Given the description of an element on the screen output the (x, y) to click on. 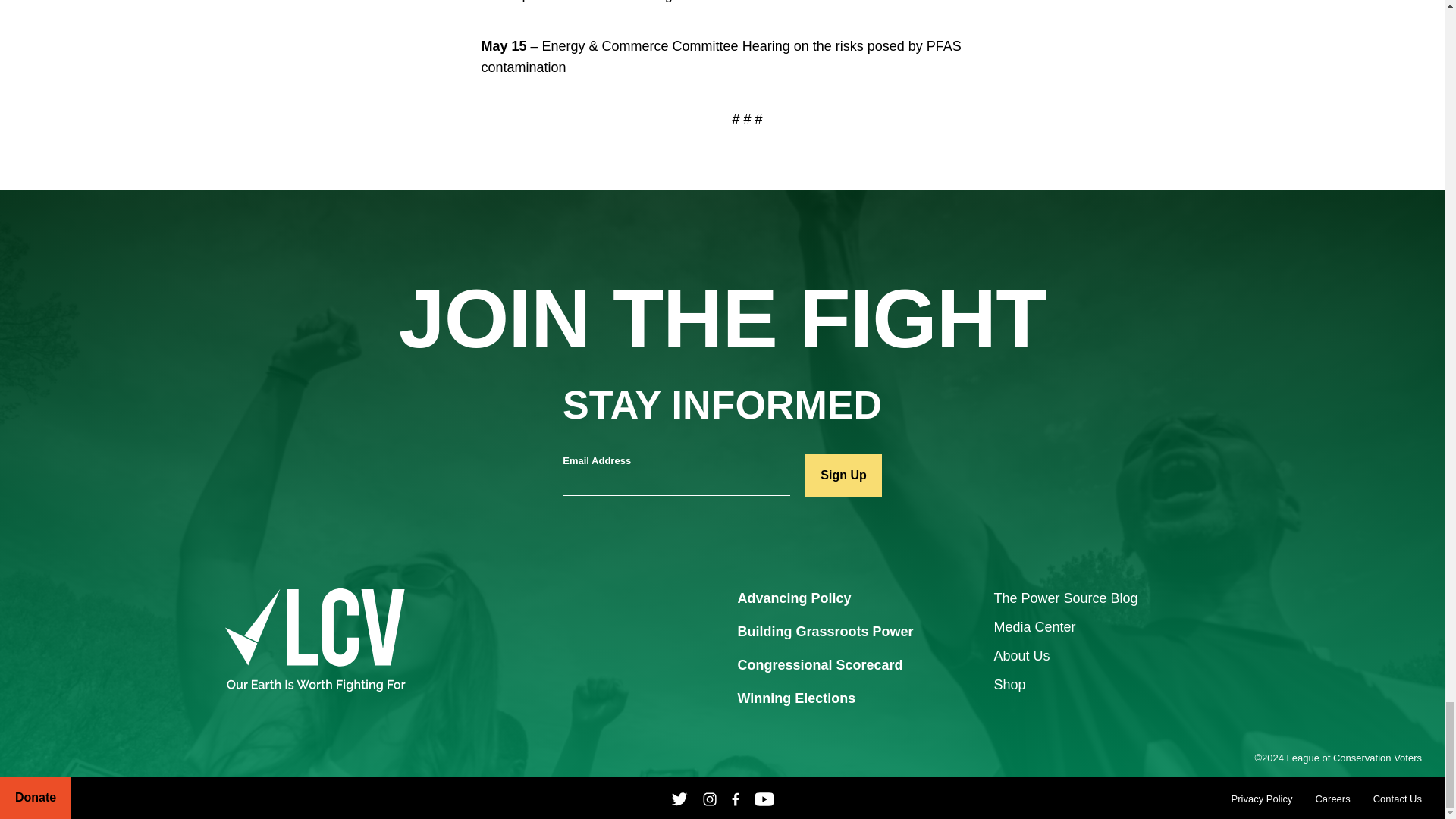
Facebook (735, 797)
Instagram (709, 797)
YouTube (764, 797)
Sign Up (842, 475)
Twitter (679, 797)
